Given the description of an element on the screen output the (x, y) to click on. 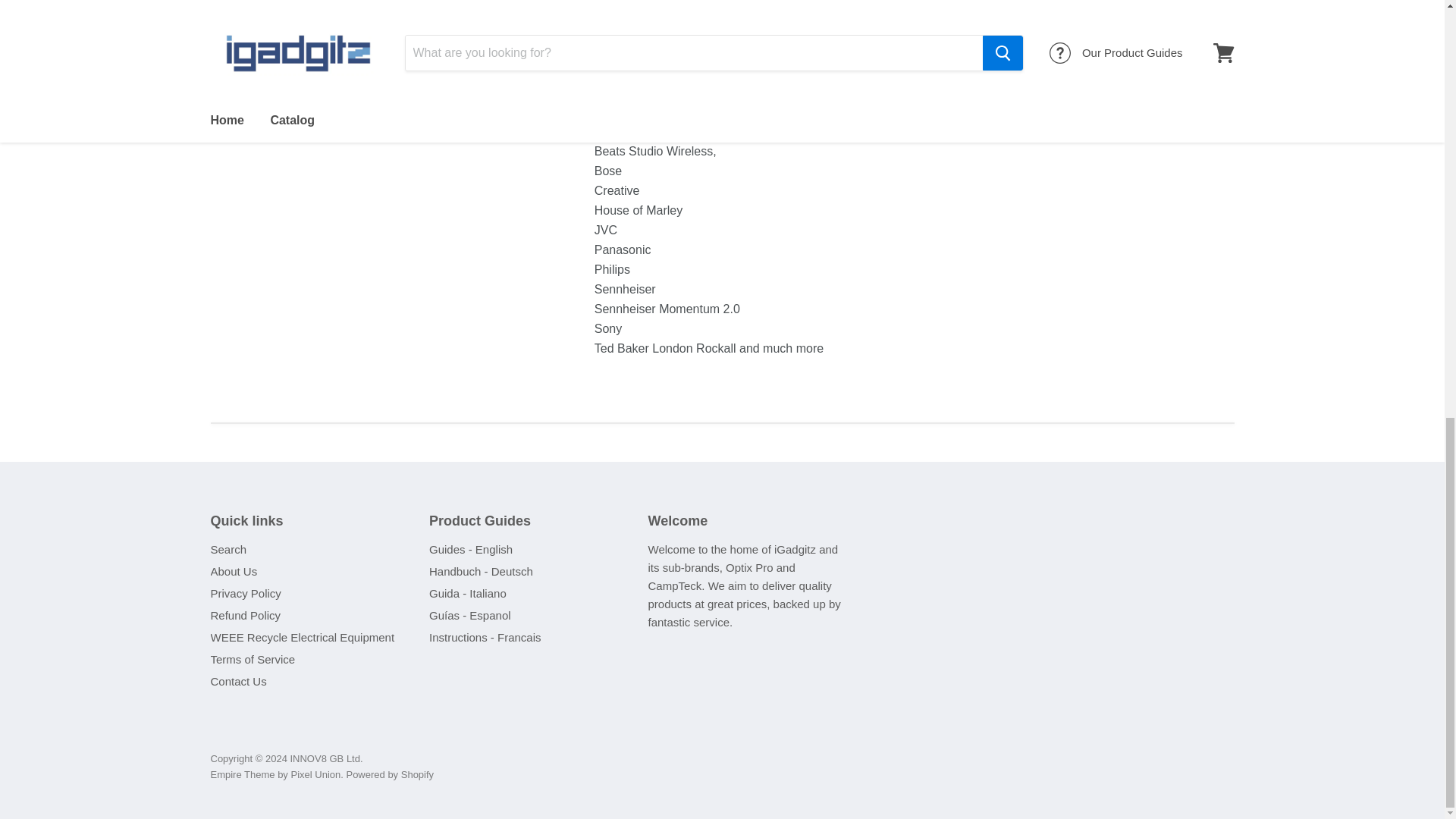
Search (229, 549)
Handbuch - Deutsch (480, 571)
Guida - Italiano (467, 593)
Contact Us (238, 680)
About Us (234, 571)
Powered by Shopify (389, 774)
Guides - English (470, 549)
Terms of Service (253, 658)
Empire Theme by Pixel Union (275, 774)
Refund Policy (246, 615)
Privacy Policy (246, 593)
Instructions - Francais (485, 636)
WEEE Recycle Electrical Equipment (302, 636)
